Given the description of an element on the screen output the (x, y) to click on. 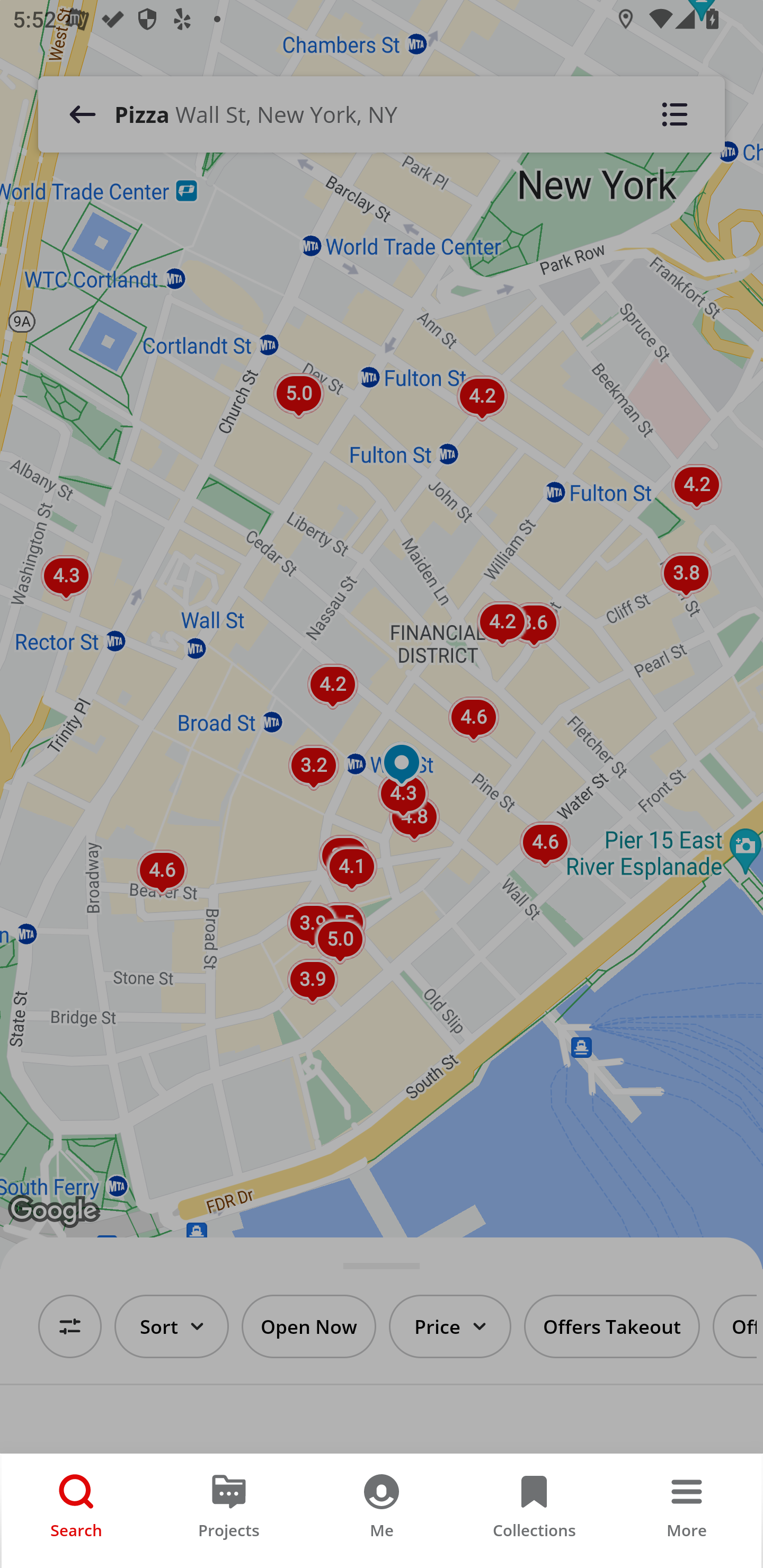
See all filters (69, 1326)
